Given the description of an element on the screen output the (x, y) to click on. 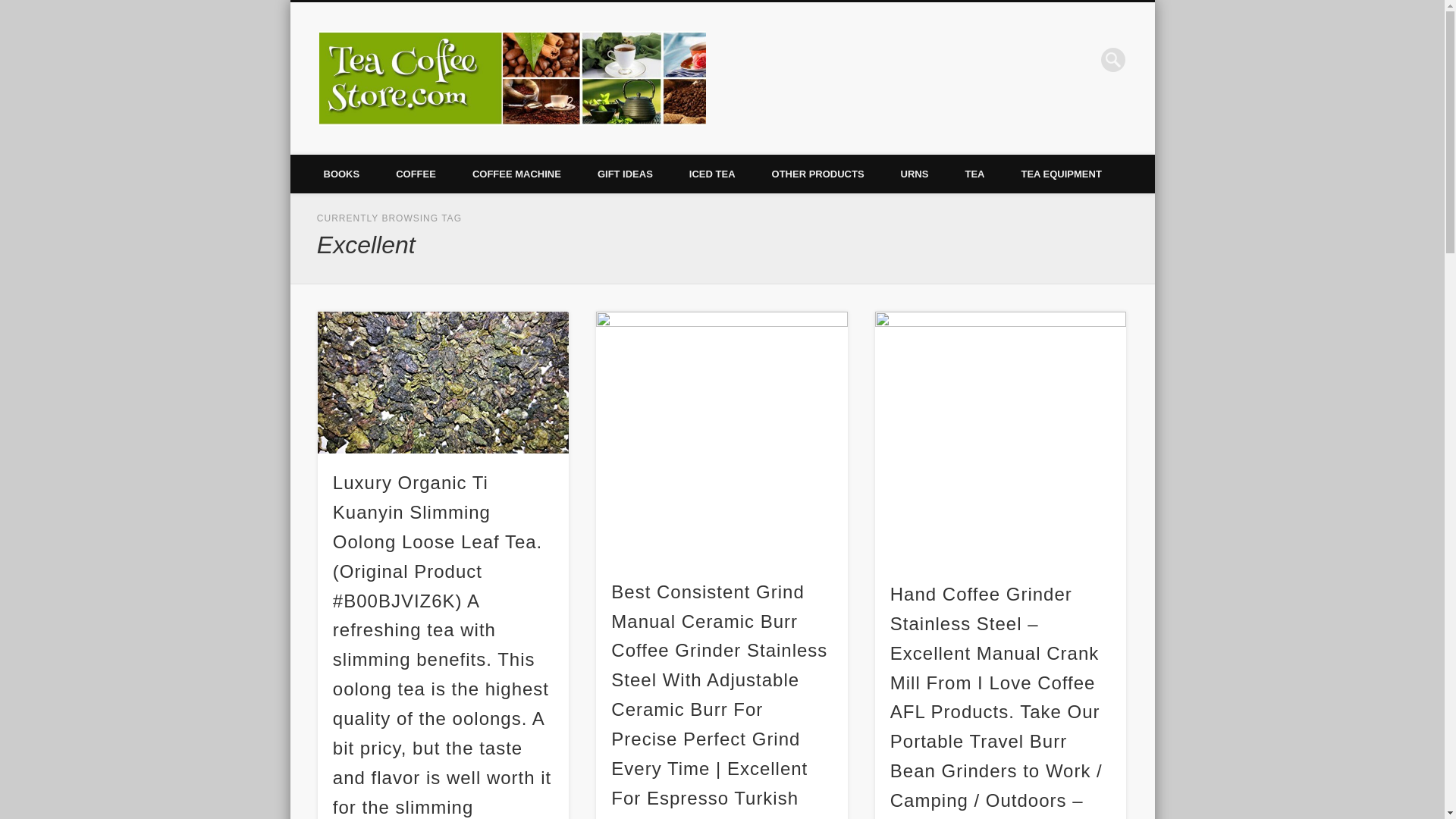
GIFT IDEAS (625, 173)
Tea Coffee Store (802, 59)
ICED TEA (712, 173)
COFFEE MACHINE (516, 173)
Search (11, 7)
BOOKS (340, 173)
URNS (914, 173)
TEA (974, 173)
COFFEE (415, 173)
OTHER PRODUCTS (818, 173)
